Given the description of an element on the screen output the (x, y) to click on. 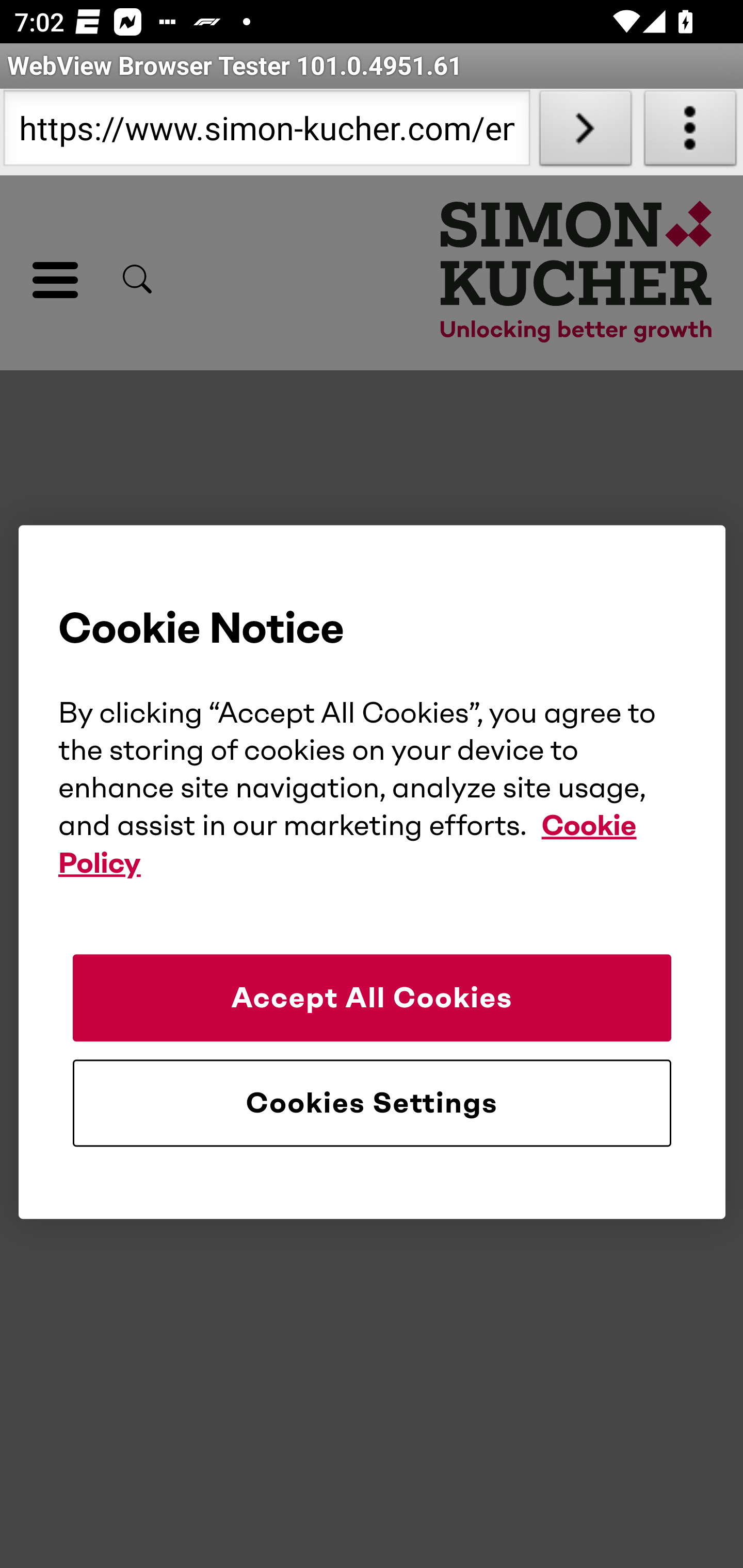
Load URL (585, 132)
About WebView (690, 132)
Accept All Cookies (371, 997)
Cookies Settings (371, 1102)
